Given the description of an element on the screen output the (x, y) to click on. 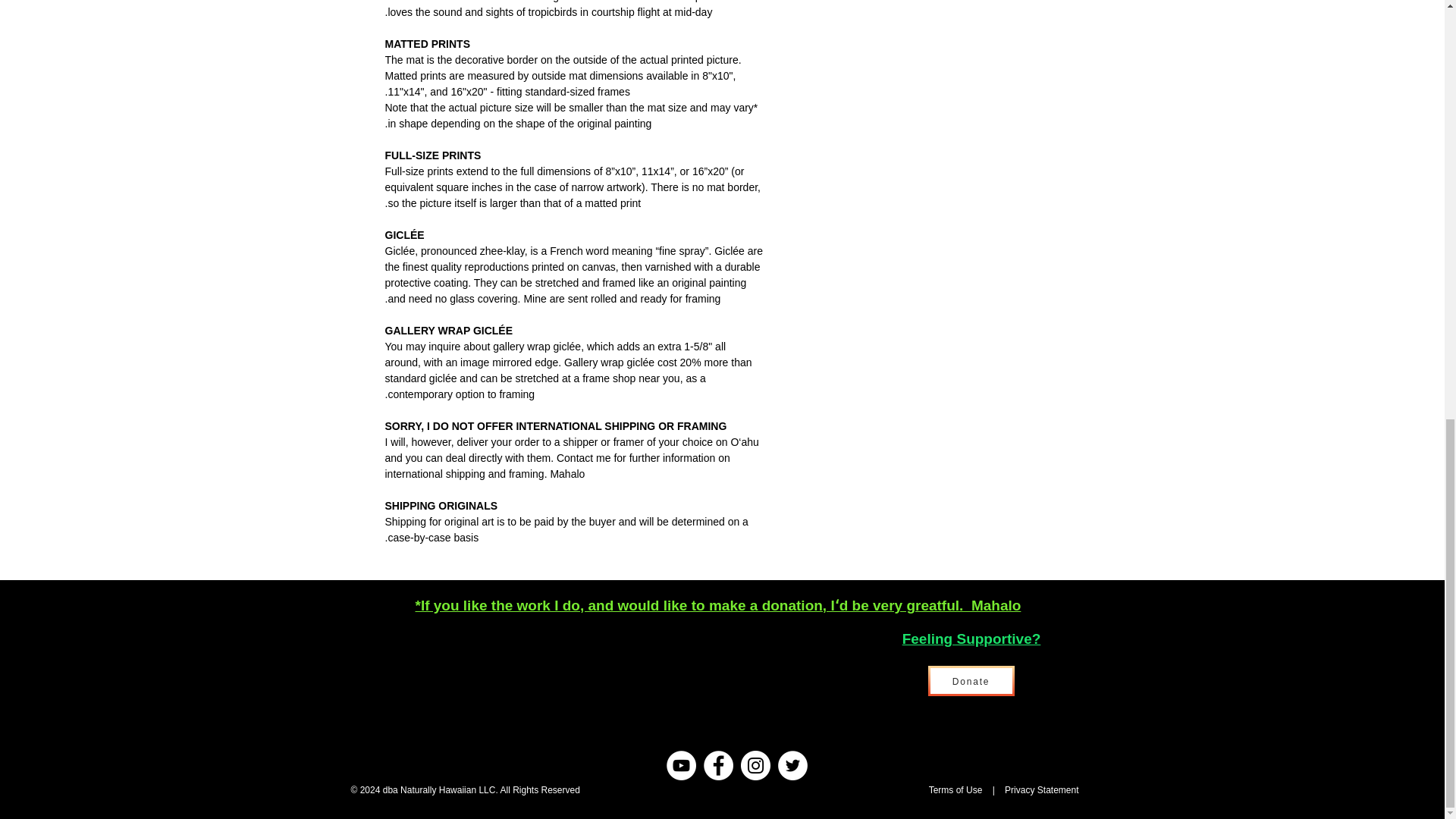
Donate (971, 680)
Hawaii (912, 789)
Feeling Supportive? (971, 638)
